Given the description of an element on the screen output the (x, y) to click on. 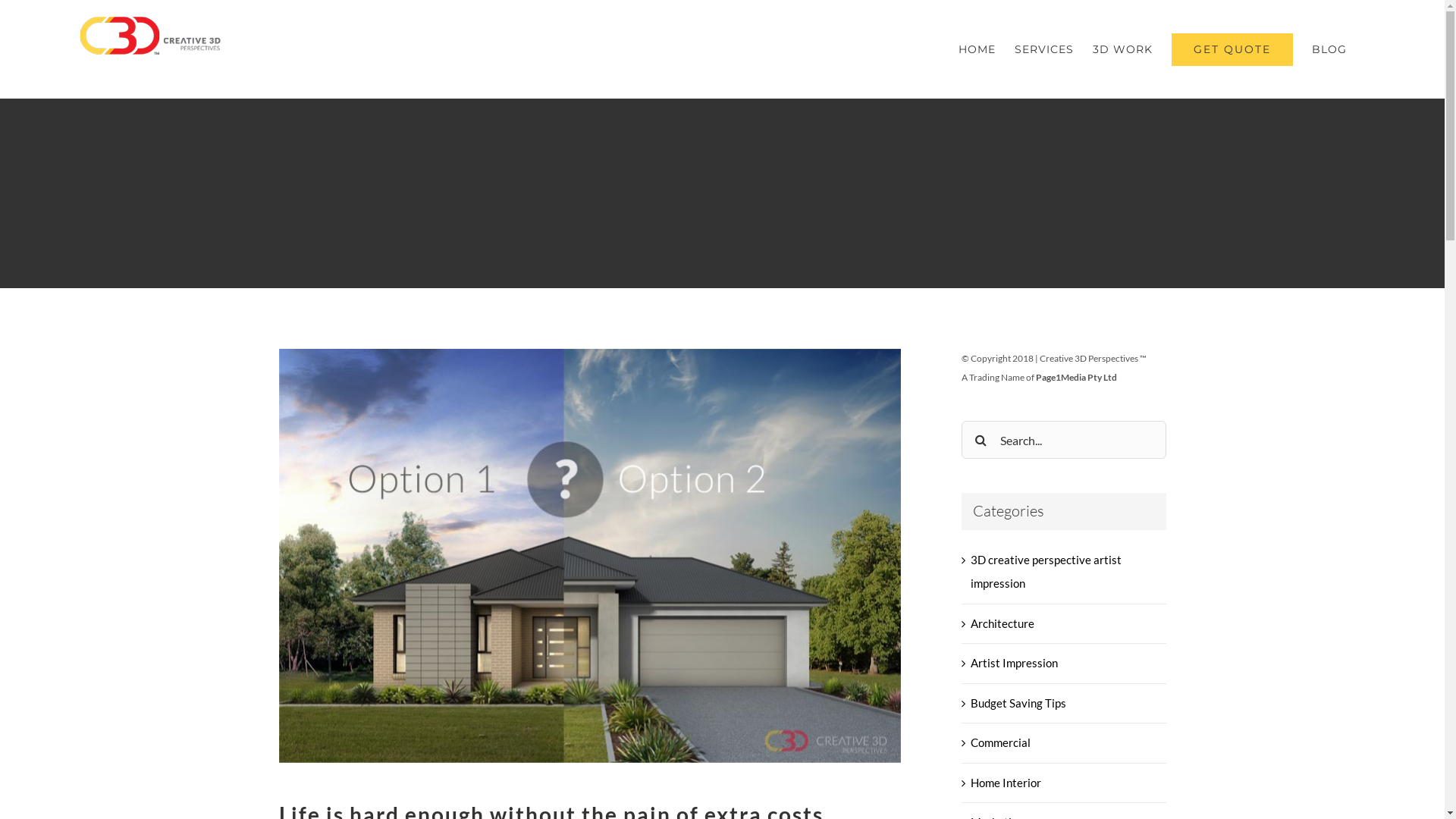
Architecture Element type: text (1063, 623)
View Larger Image Element type: text (590, 555)
GET QUOTE Element type: text (1231, 49)
3D creative perspective artist impression Element type: text (1063, 572)
Commercial Element type: text (1063, 743)
Artist Impression Element type: text (1063, 663)
Home Interior Element type: text (1063, 783)
3D WORK Element type: text (1122, 49)
Budget Saving Tips Element type: text (1063, 703)
SERVICES Element type: text (1043, 49)
HOME Element type: text (976, 49)
BLOG Element type: text (1328, 49)
